Given the description of an element on the screen output the (x, y) to click on. 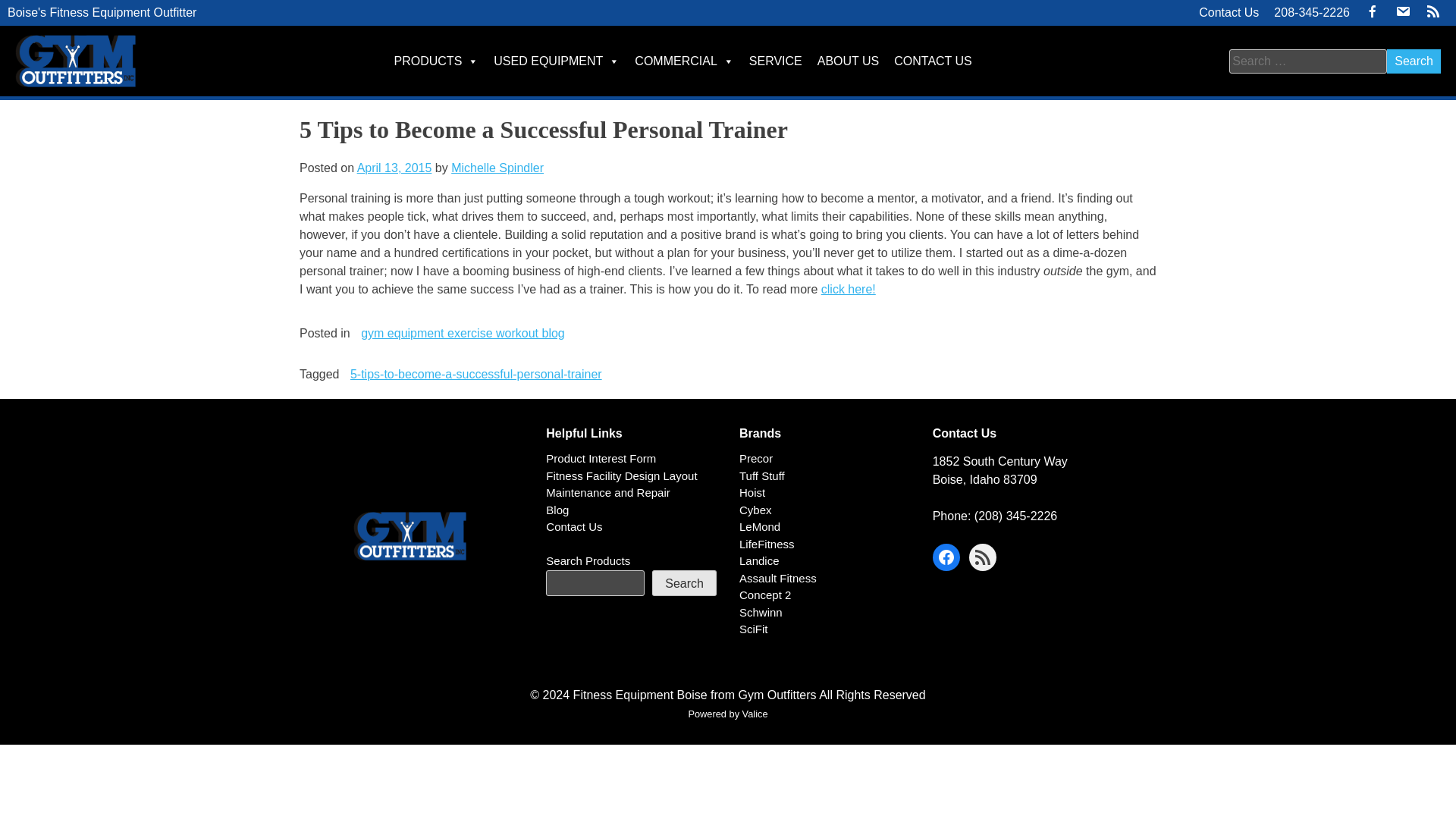
208-345-2226 (1311, 13)
Search (1414, 61)
Contact Us (1228, 13)
Search (1414, 61)
PRODUCTS (436, 60)
